Given the description of an element on the screen output the (x, y) to click on. 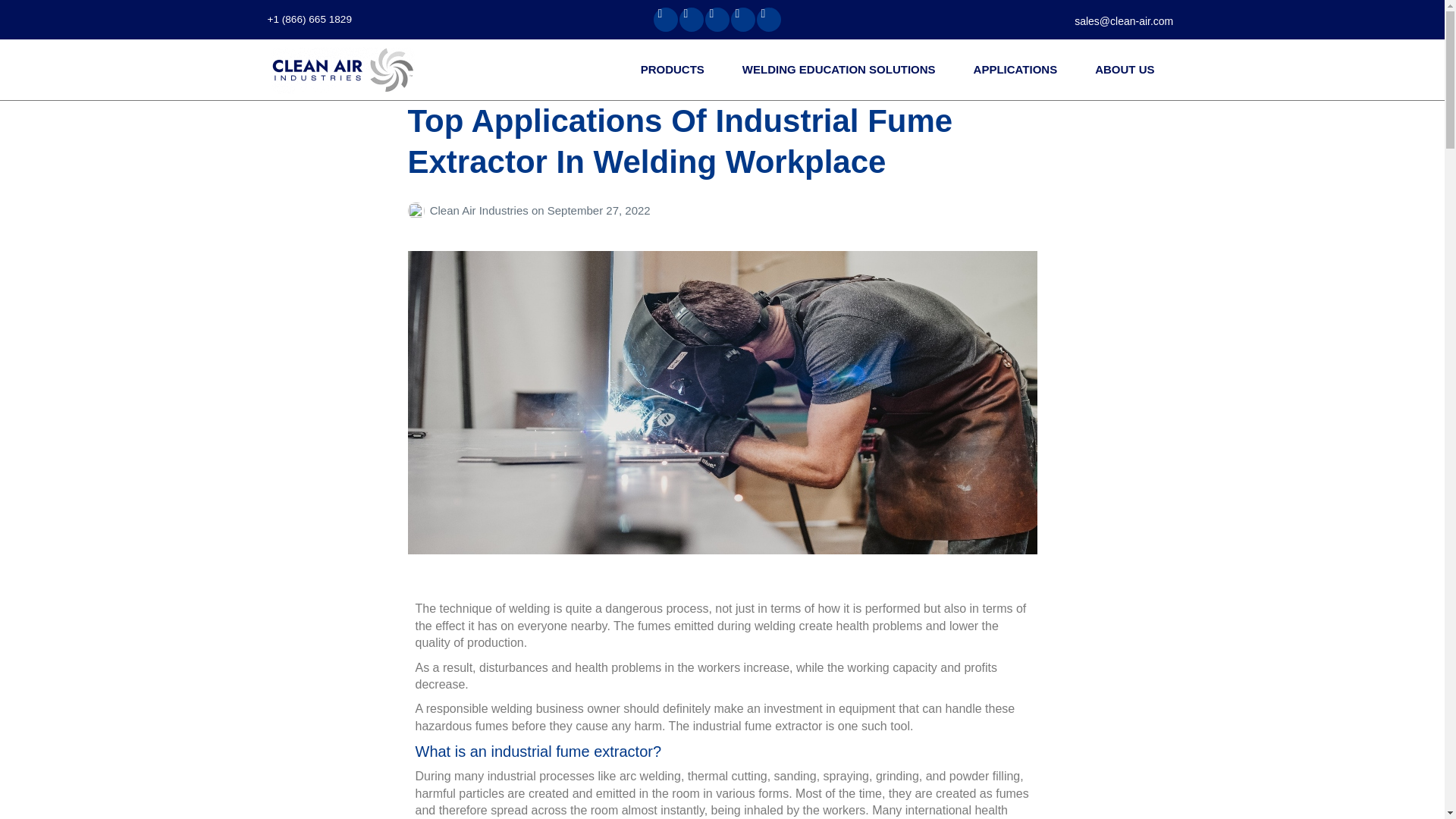
WELDING EDUCATION SOLUTIONS (842, 68)
APPLICATIONS (1019, 68)
Posts by Clean Air Industries (418, 210)
Clean Air Industries (342, 70)
PRODUCTS (676, 68)
